Given the description of an element on the screen output the (x, y) to click on. 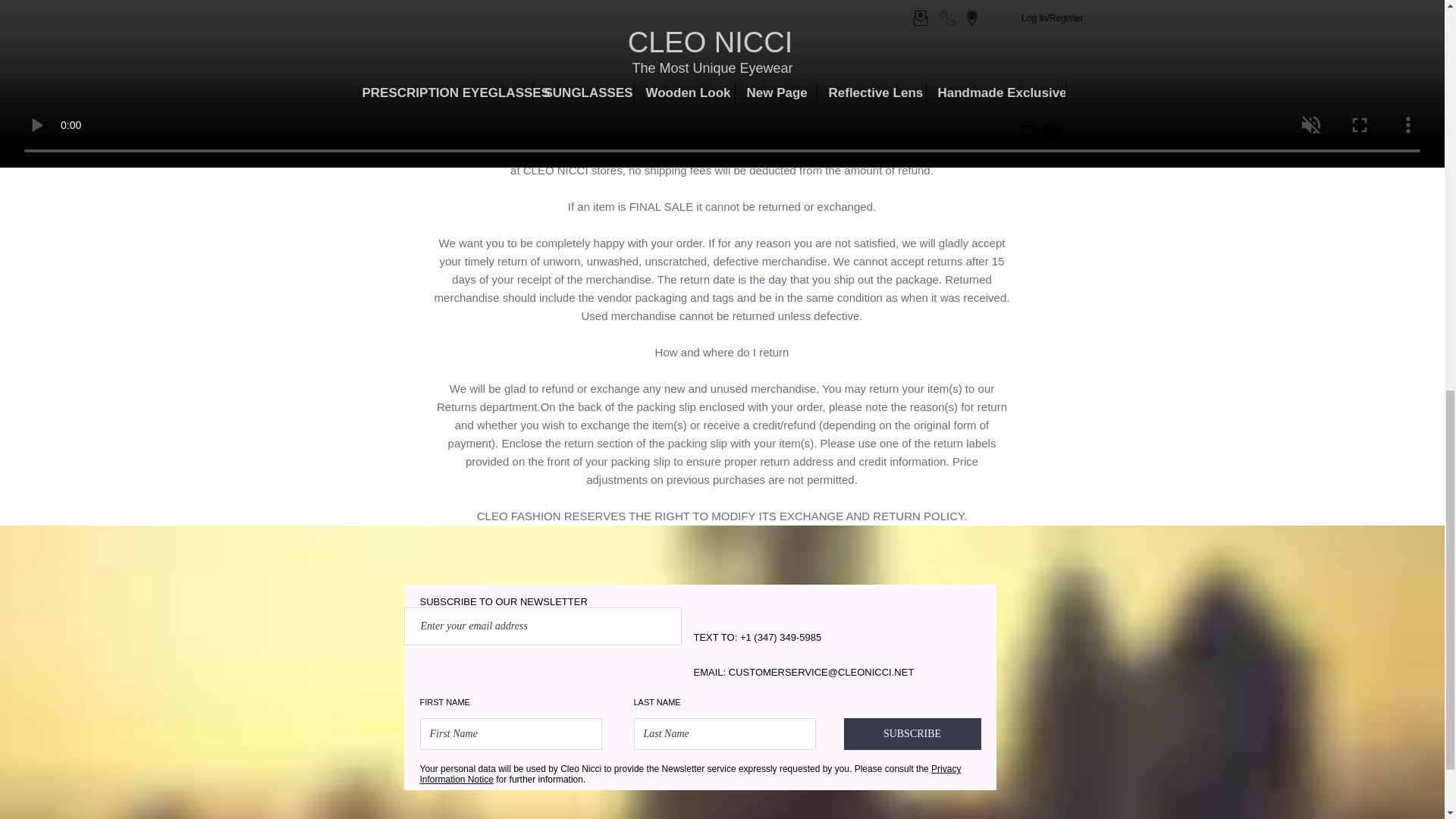
SUBSCRIBE (911, 734)
Privacy Information Notice (690, 773)
